Given the description of an element on the screen output the (x, y) to click on. 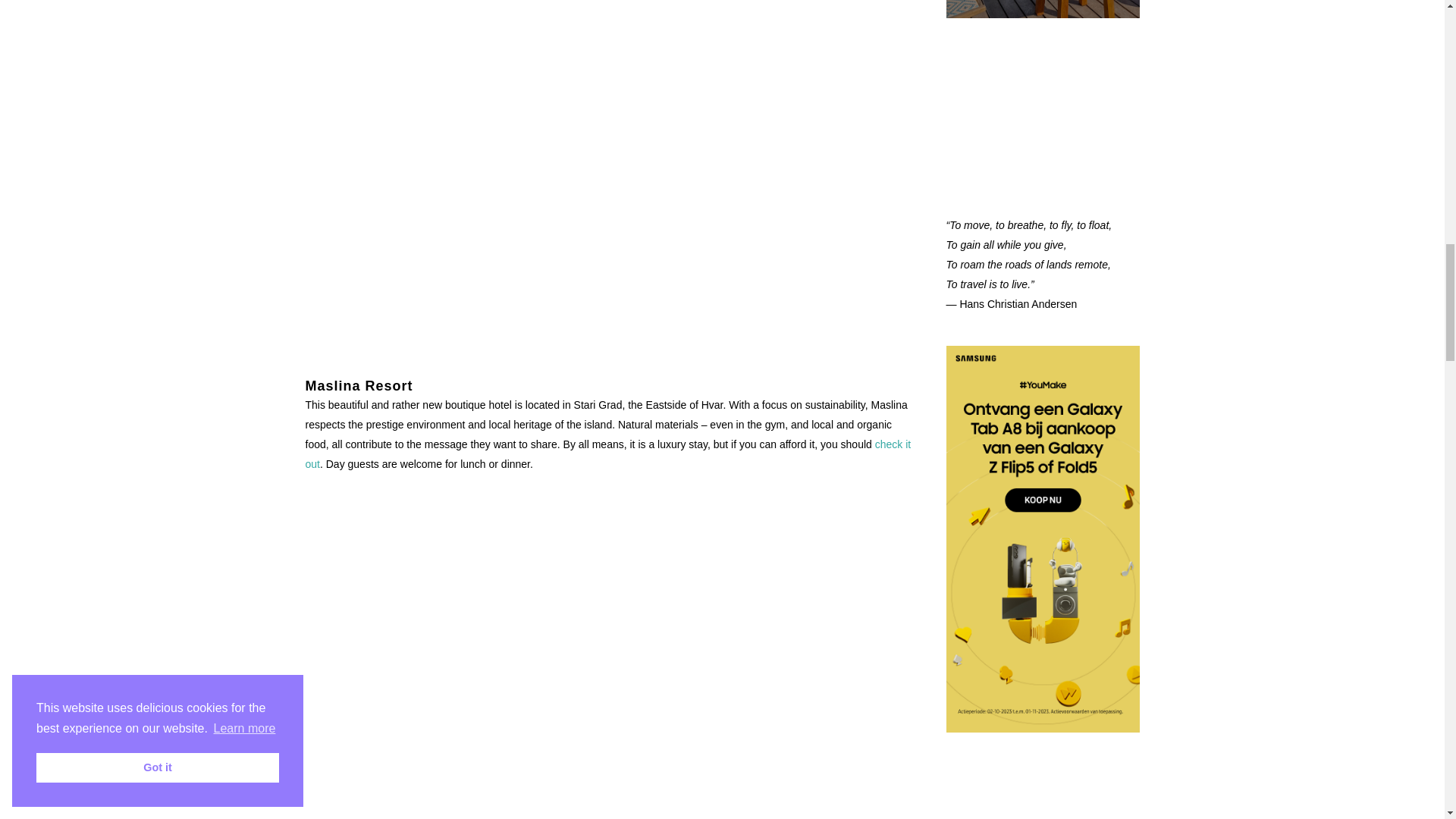
GetYourGuide Widget (1043, 106)
